Given the description of an element on the screen output the (x, y) to click on. 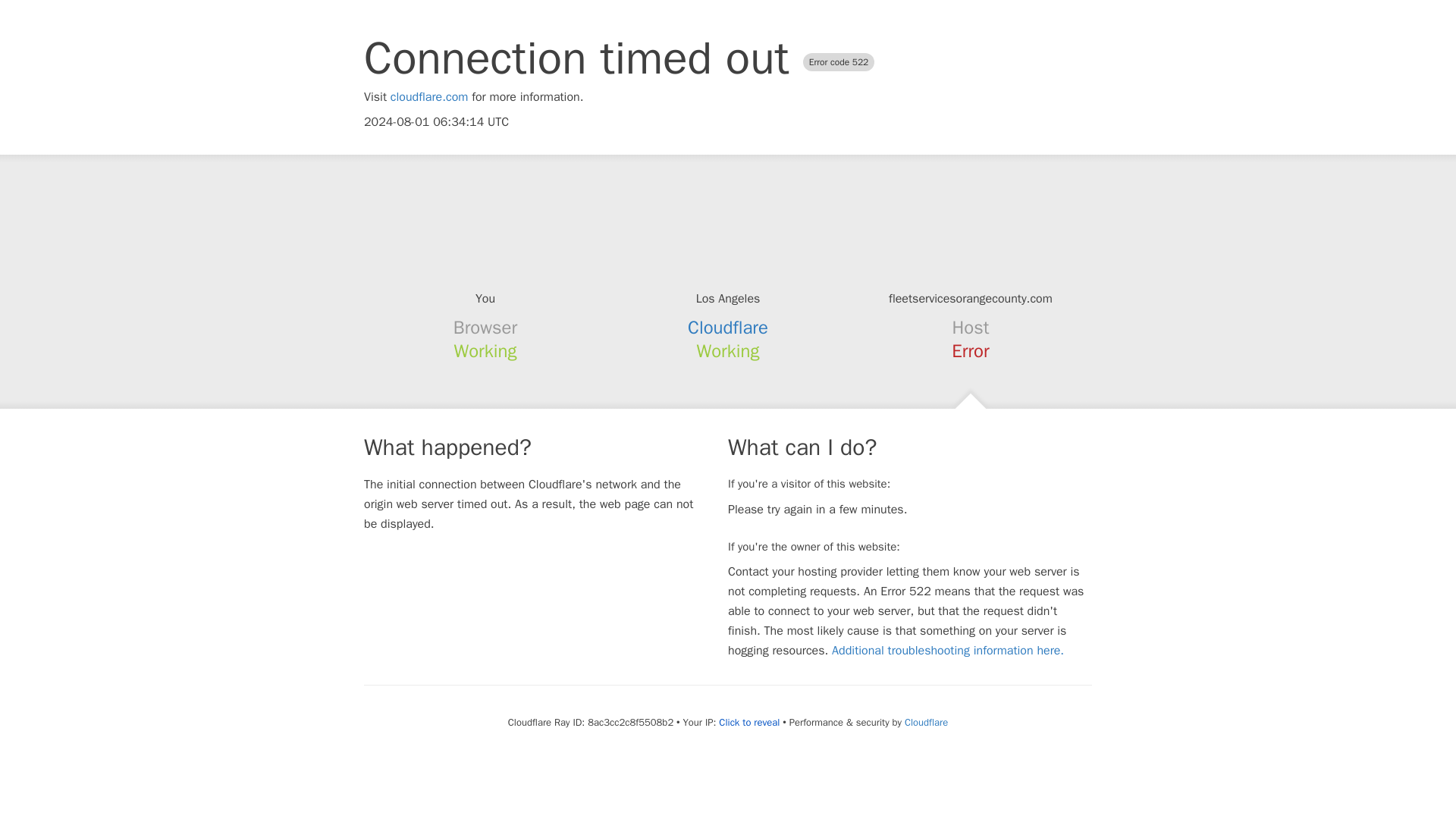
Cloudflare (925, 721)
Additional troubleshooting information here. (947, 650)
Click to reveal (748, 722)
cloudflare.com (429, 96)
Cloudflare (727, 327)
